Given the description of an element on the screen output the (x, y) to click on. 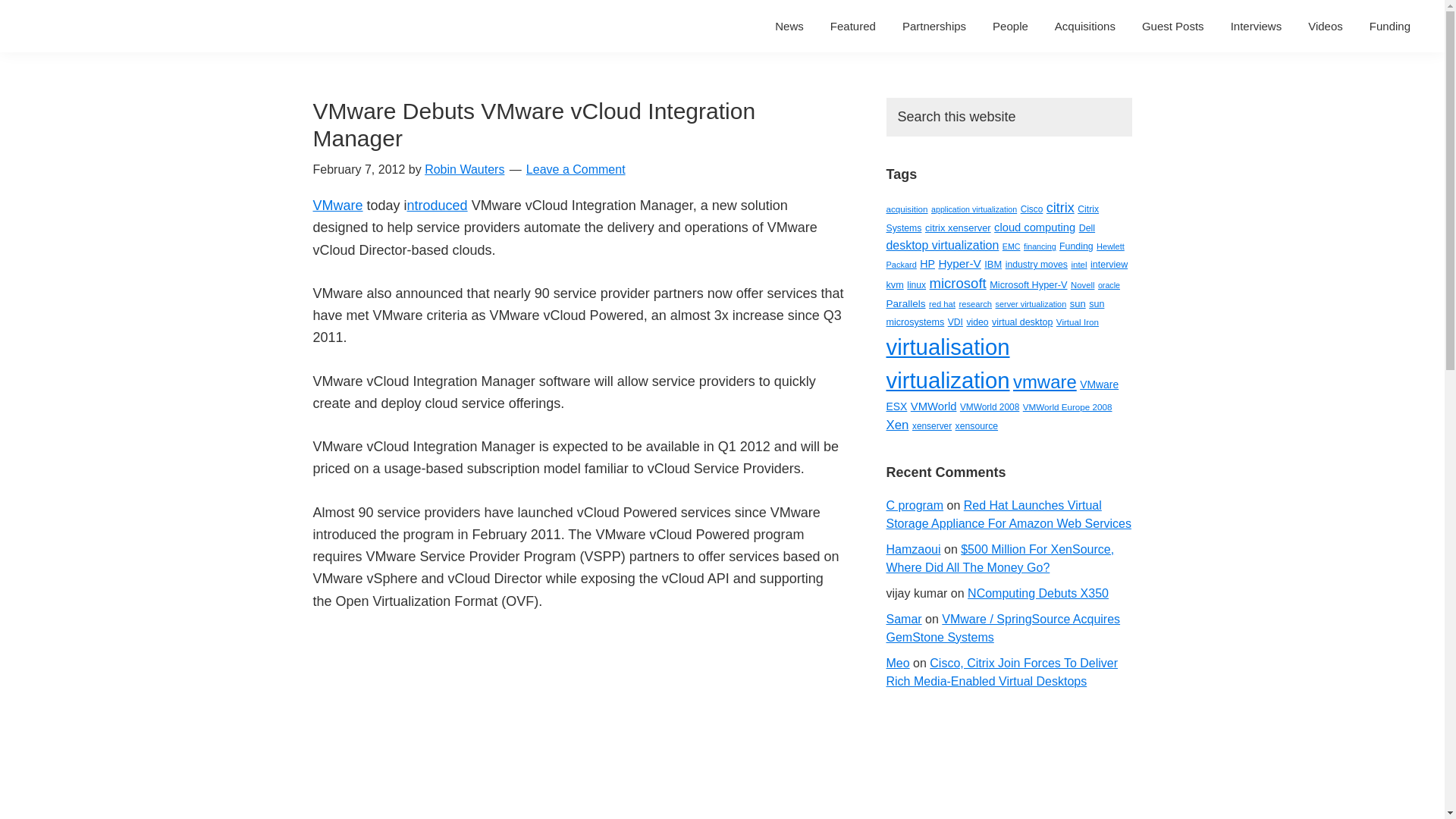
Videos (1325, 25)
financing (1040, 245)
Cisco (1031, 208)
application virtualization (973, 208)
Hyper-V (958, 263)
Partnerships (933, 25)
desktop virtualization (941, 245)
cloud computing (1034, 227)
citrix (1060, 207)
acquisition (906, 208)
Leave a Comment (575, 169)
